Given the description of an element on the screen output the (x, y) to click on. 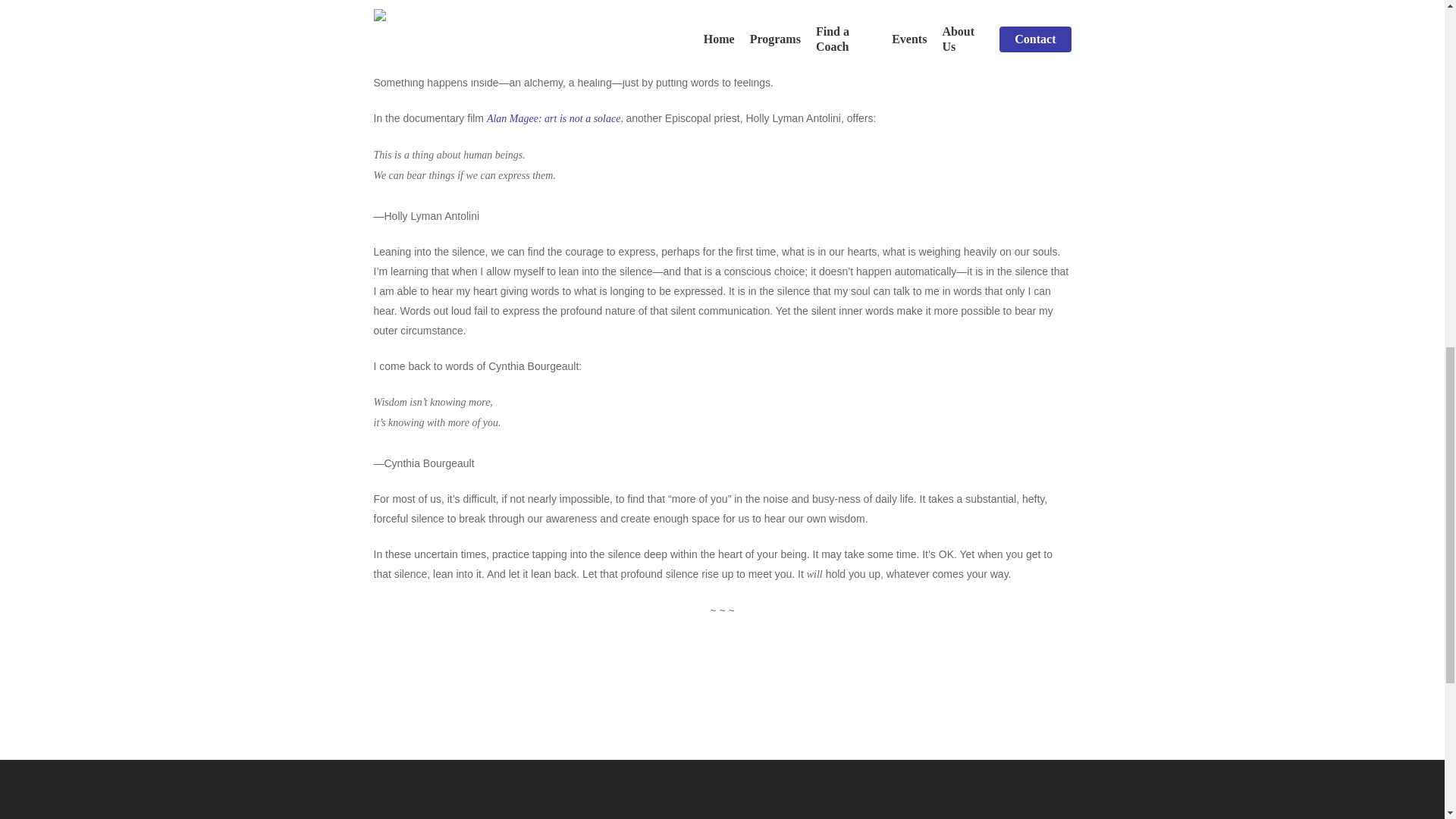
Alan Magee: art is not a solace (553, 118)
